Given the description of an element on the screen output the (x, y) to click on. 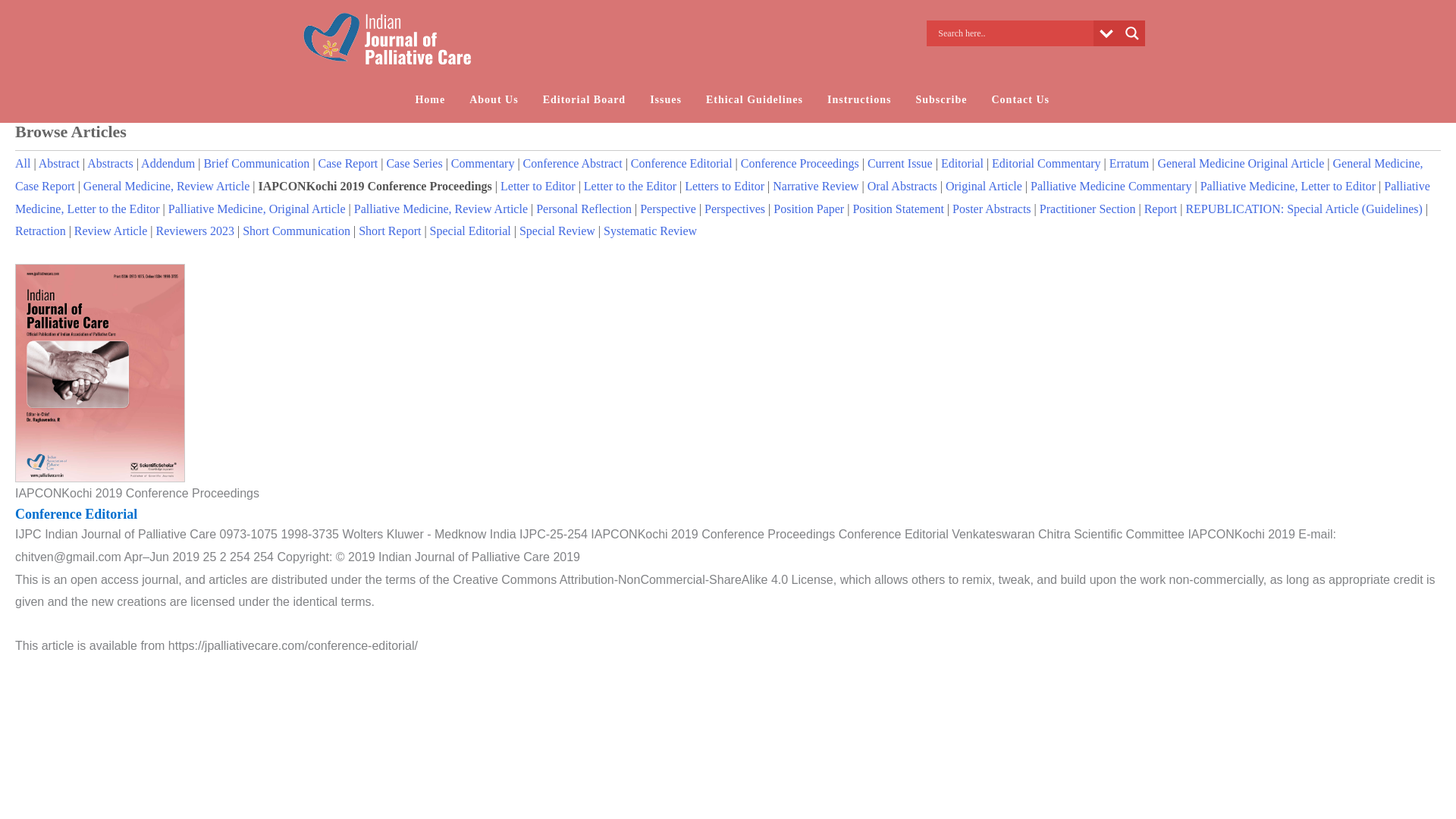
Contact Us (1020, 100)
Instructions (858, 100)
Ethical Guidelines (754, 100)
Issues (665, 100)
Subscribe (940, 100)
Home (430, 100)
About Us (493, 100)
